Given the description of an element on the screen output the (x, y) to click on. 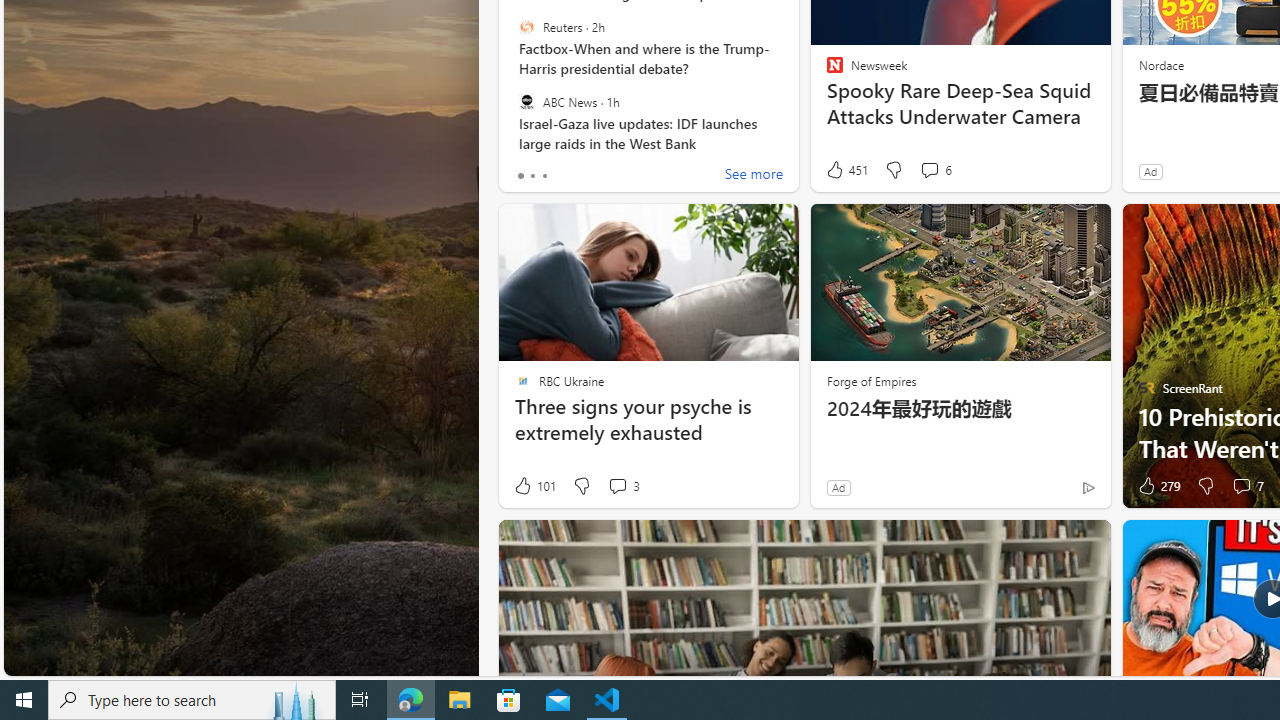
Forge of Empires (870, 380)
Dislike (1204, 485)
Reuters (526, 27)
tab-2 (543, 175)
View comments 6 Comment (935, 170)
View comments 7 Comment (1247, 485)
View comments 3 Comment (623, 485)
